Given the description of an element on the screen output the (x, y) to click on. 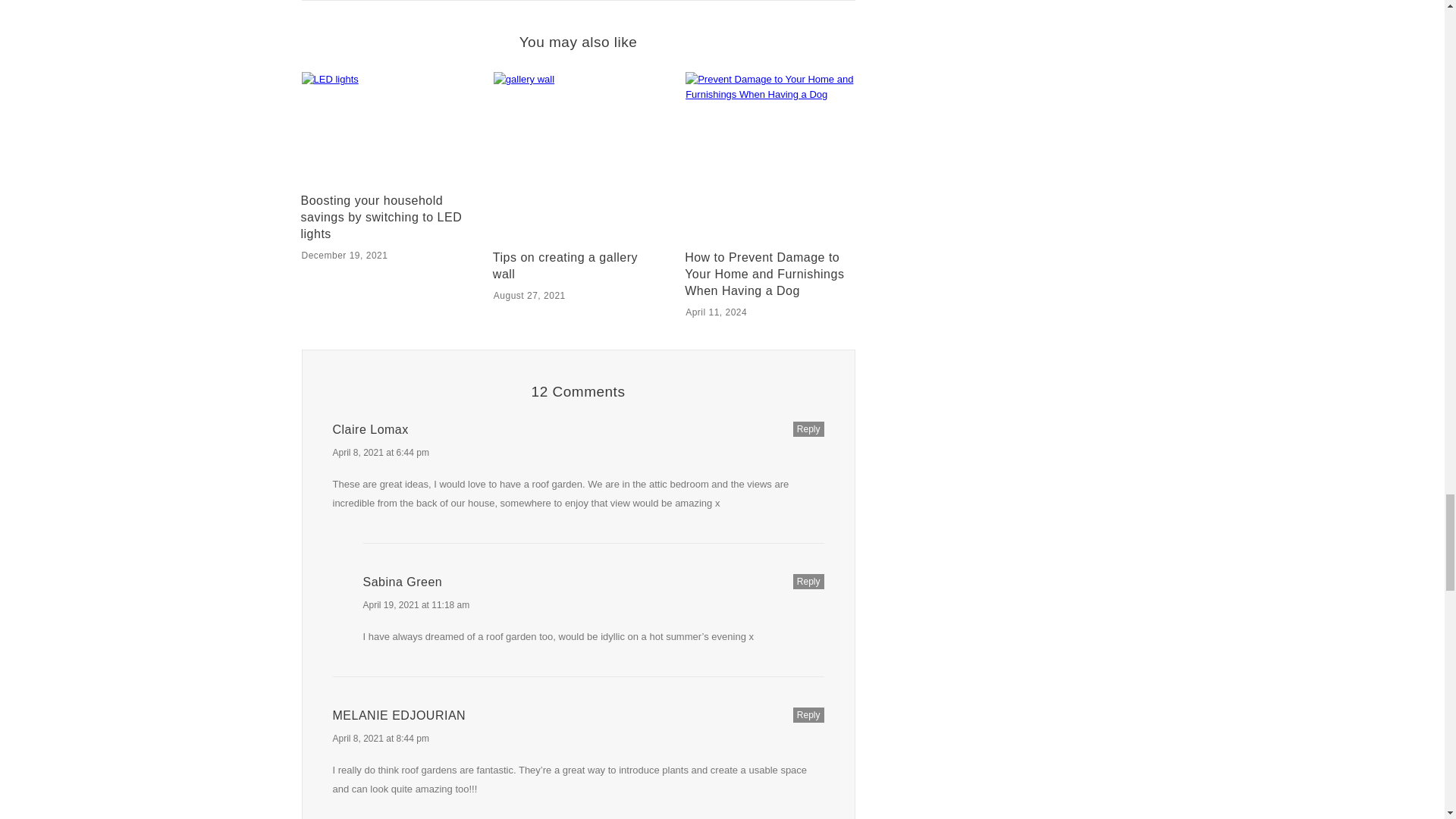
Tips on creating a gallery wall 4 (577, 156)
Boosting your household savings by switching to LED lights 3 (385, 128)
